Given the description of an element on the screen output the (x, y) to click on. 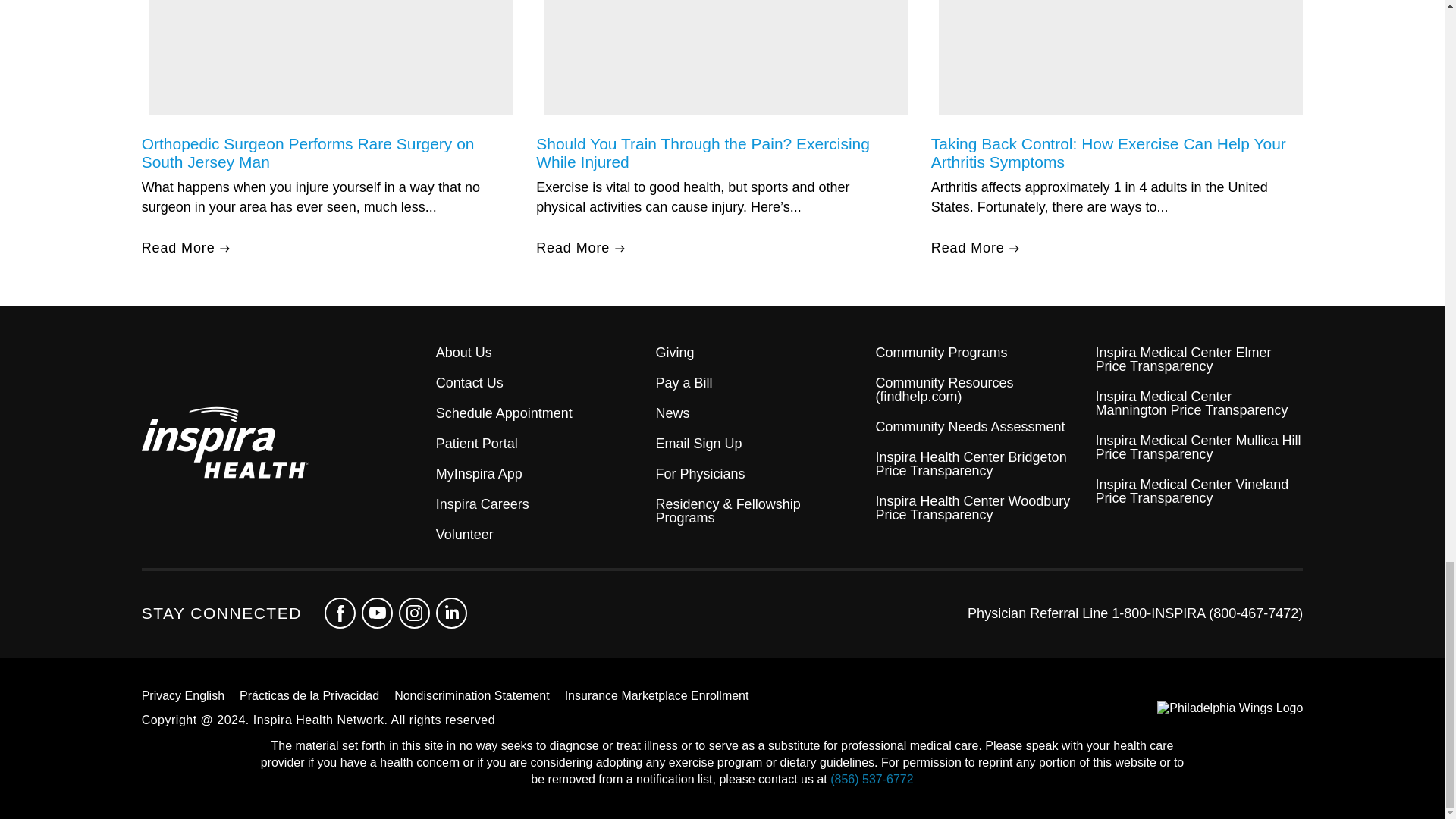
Go to Patient Portal (539, 443)
Go to Schedule Appointment (539, 413)
Go to Pay a Bill (759, 382)
Go to Home Page (288, 443)
Go to Inspira Careers (539, 504)
Go to MyInspira App (539, 473)
Go to News (759, 413)
Go to Volunteer (539, 534)
Go to Contact Us (539, 382)
Go to About Us (539, 352)
Go to Giving (759, 352)
